Given the description of an element on the screen output the (x, y) to click on. 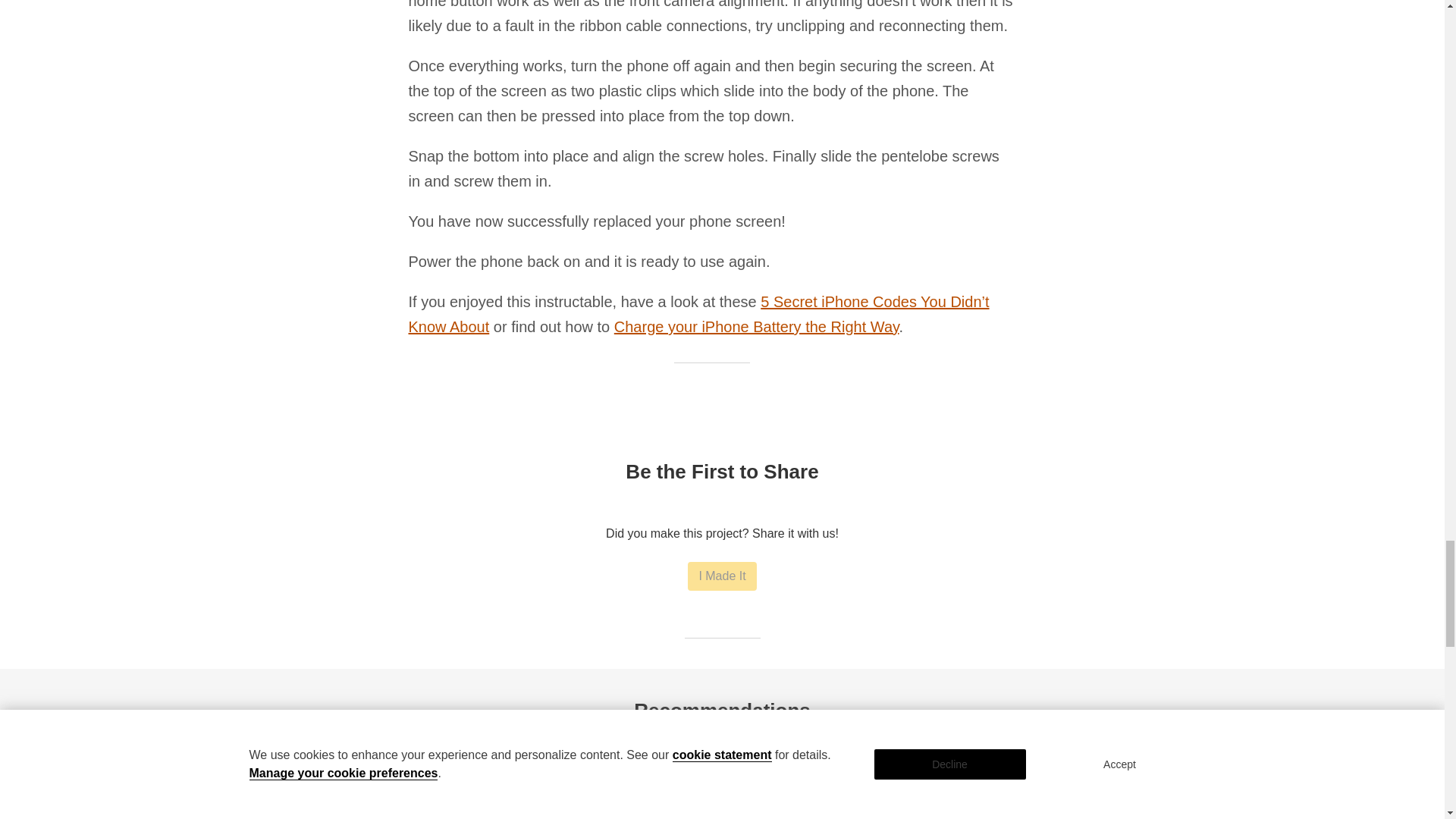
I Made It (721, 575)
Charge your iPhone Battery the Right Way (756, 326)
